Given the description of an element on the screen output the (x, y) to click on. 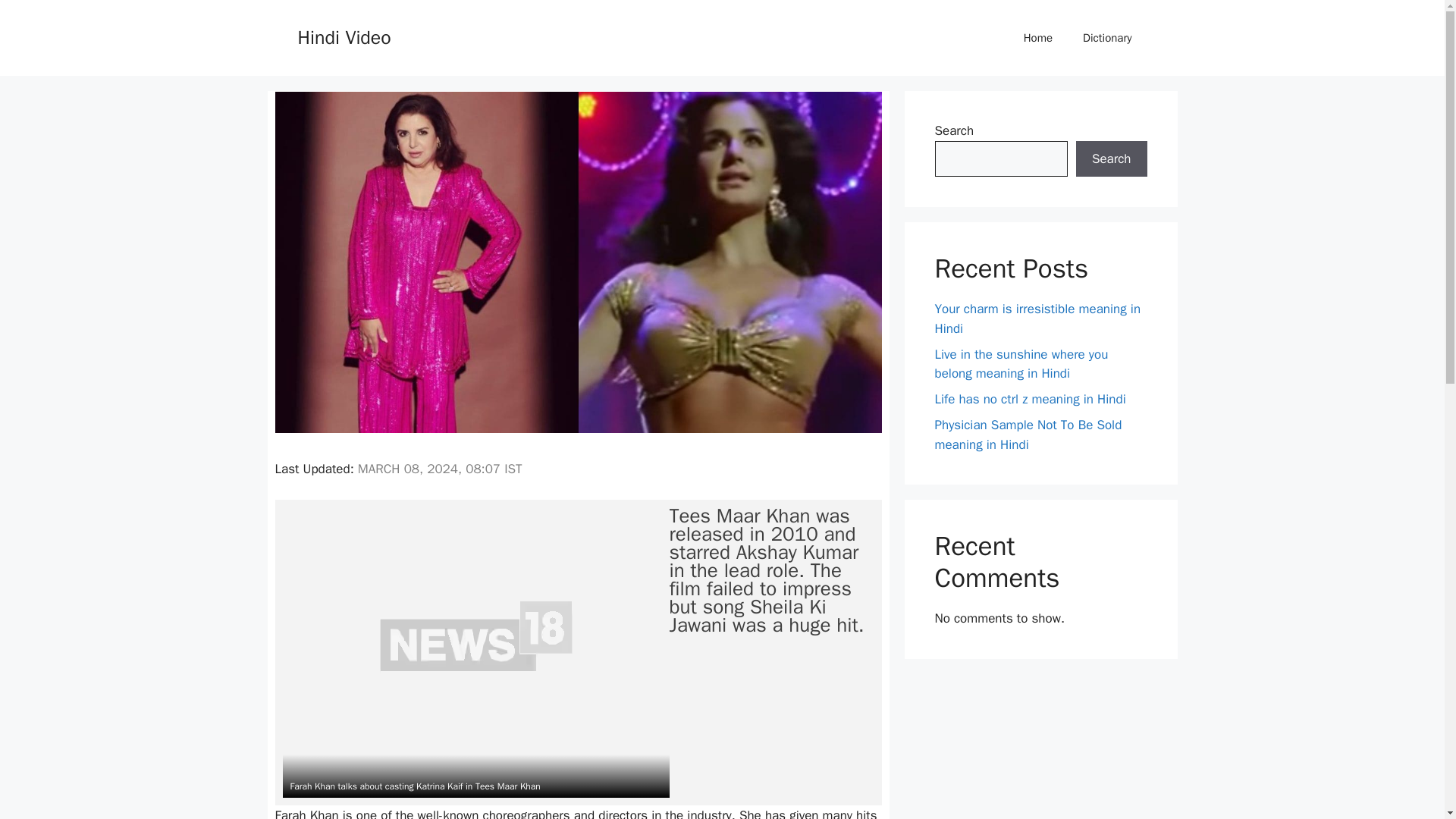
Home (1038, 37)
Hindi Video (343, 37)
Search (1111, 158)
Your charm is irresistible meaning in Hindi (1037, 318)
Physician Sample Not To Be Sold meaning in Hindi (1027, 434)
Live in the sunshine where you belong meaning in Hindi (1021, 363)
Life has no ctrl z meaning in Hindi (1029, 399)
Dictionary (1107, 37)
